Given the description of an element on the screen output the (x, y) to click on. 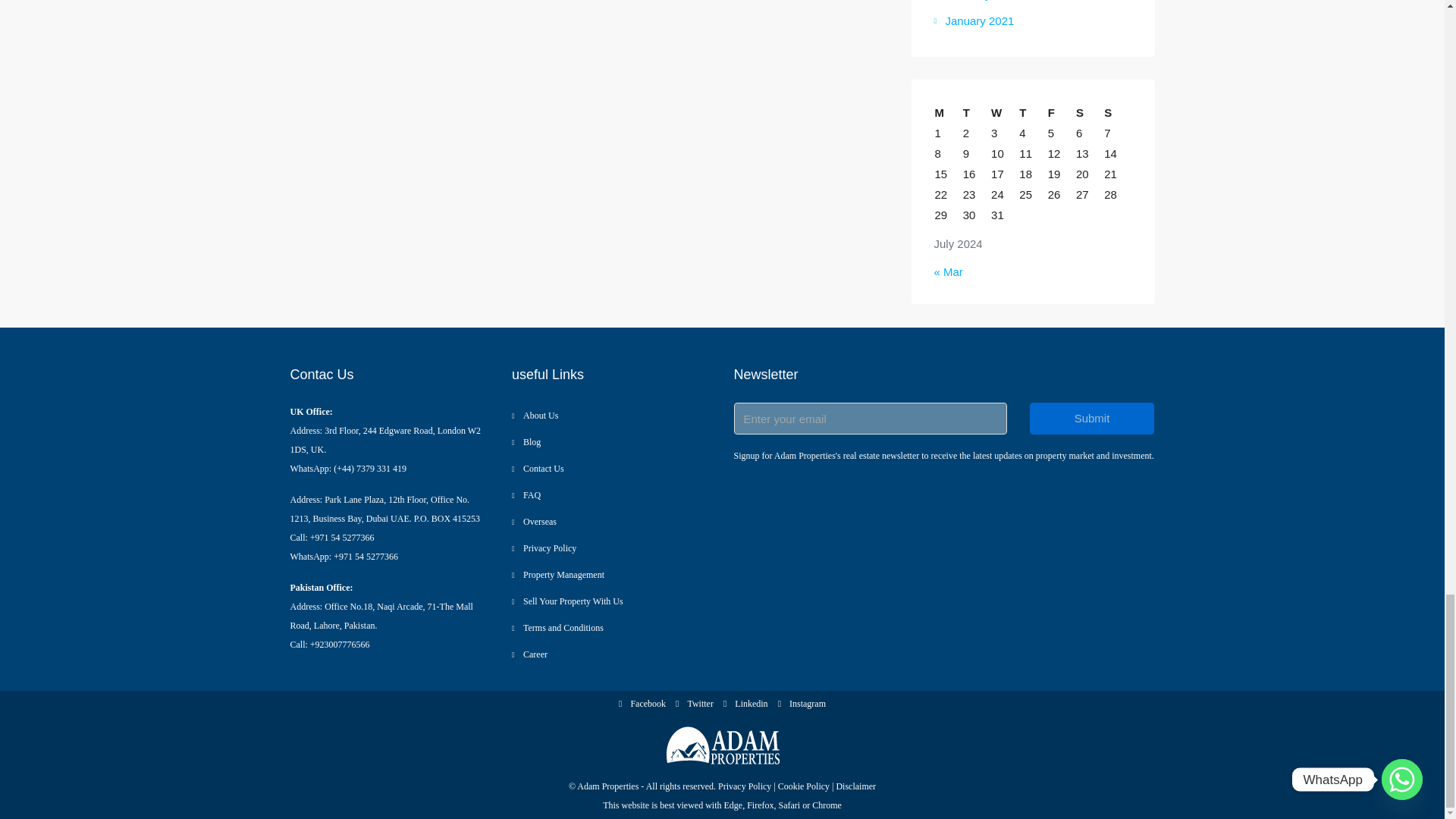
Tuesday (976, 112)
Monday (948, 112)
Sunday (1117, 112)
Wednesday (1003, 112)
Saturday (1089, 112)
Friday (1060, 112)
Thursday (1031, 112)
